Given the description of an element on the screen output the (x, y) to click on. 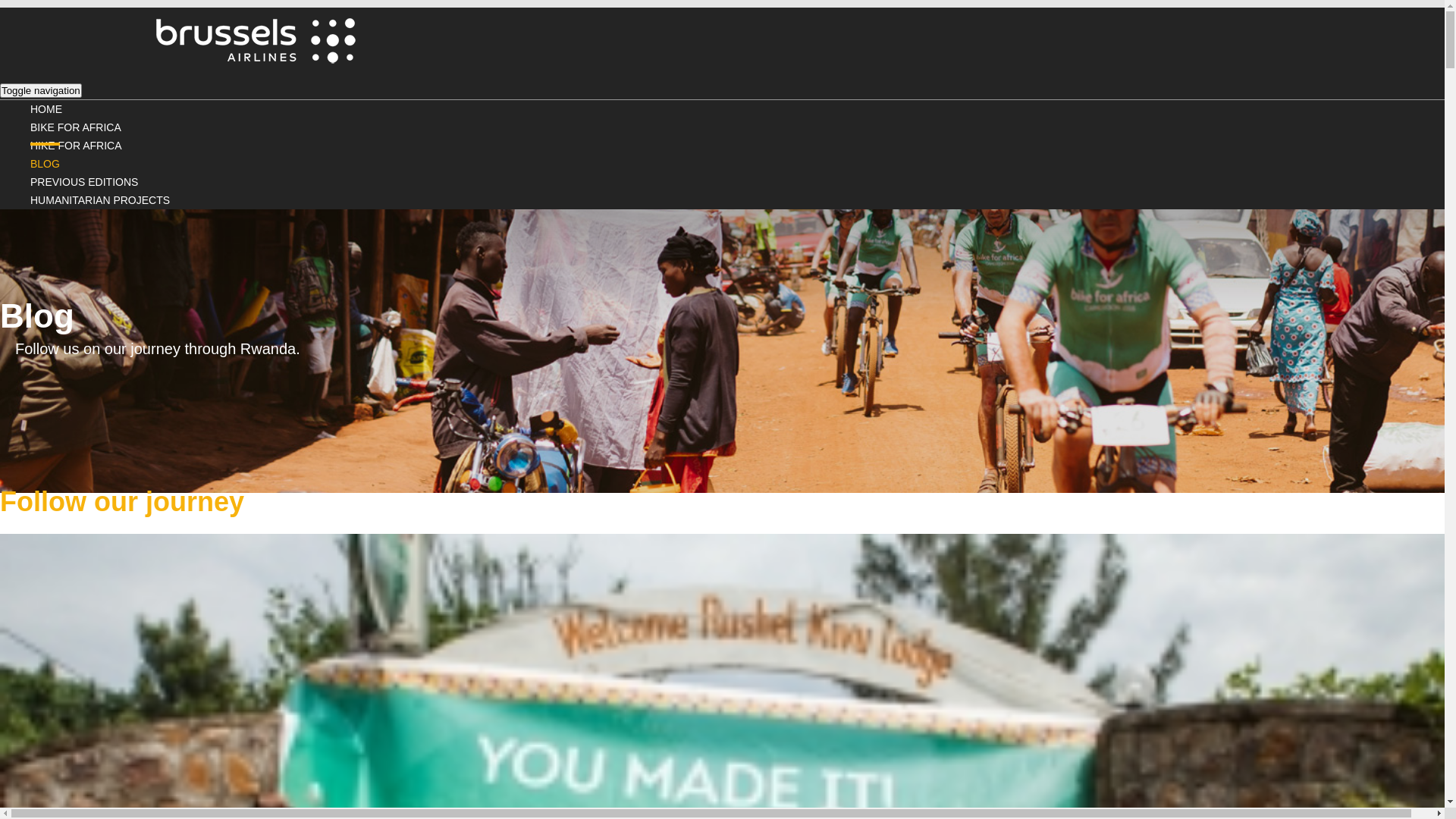
HOME Element type: text (46, 109)
Skip to main content Element type: text (0, 0)
PREVIOUS EDITIONS Element type: text (84, 181)
Toggle navigation Element type: text (40, 90)
HIKE FOR AFRICA Element type: text (76, 145)
BIKE FOR AFRICA Element type: text (75, 127)
BLOG Element type: text (44, 162)
HUMANITARIAN PROJECTS Element type: text (99, 200)
